Given the description of an element on the screen output the (x, y) to click on. 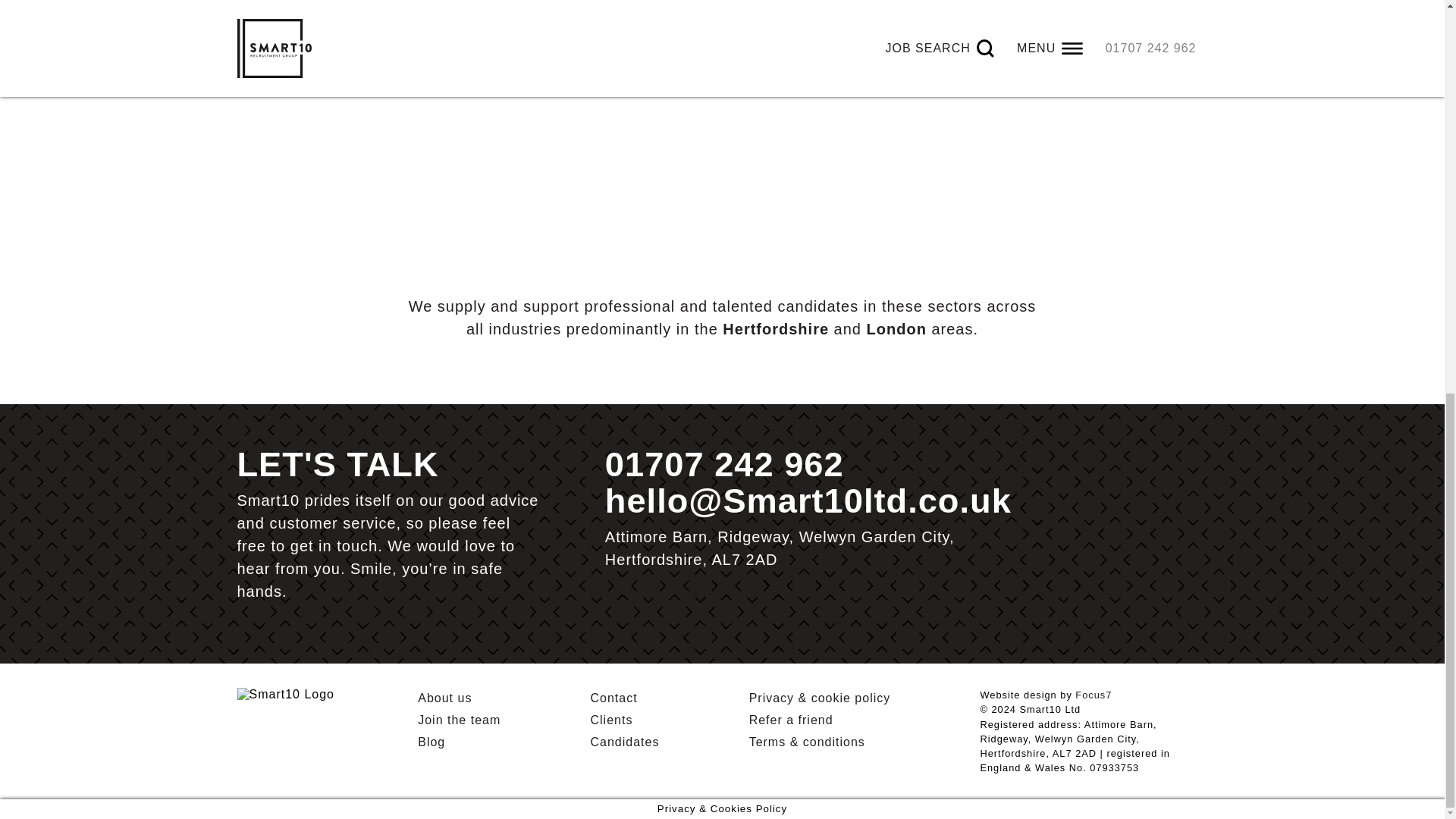
About us (444, 697)
Join the team (458, 719)
Clients (610, 719)
Blog (431, 741)
Contact (613, 697)
01707 242 962 (724, 464)
